Given the description of an element on the screen output the (x, y) to click on. 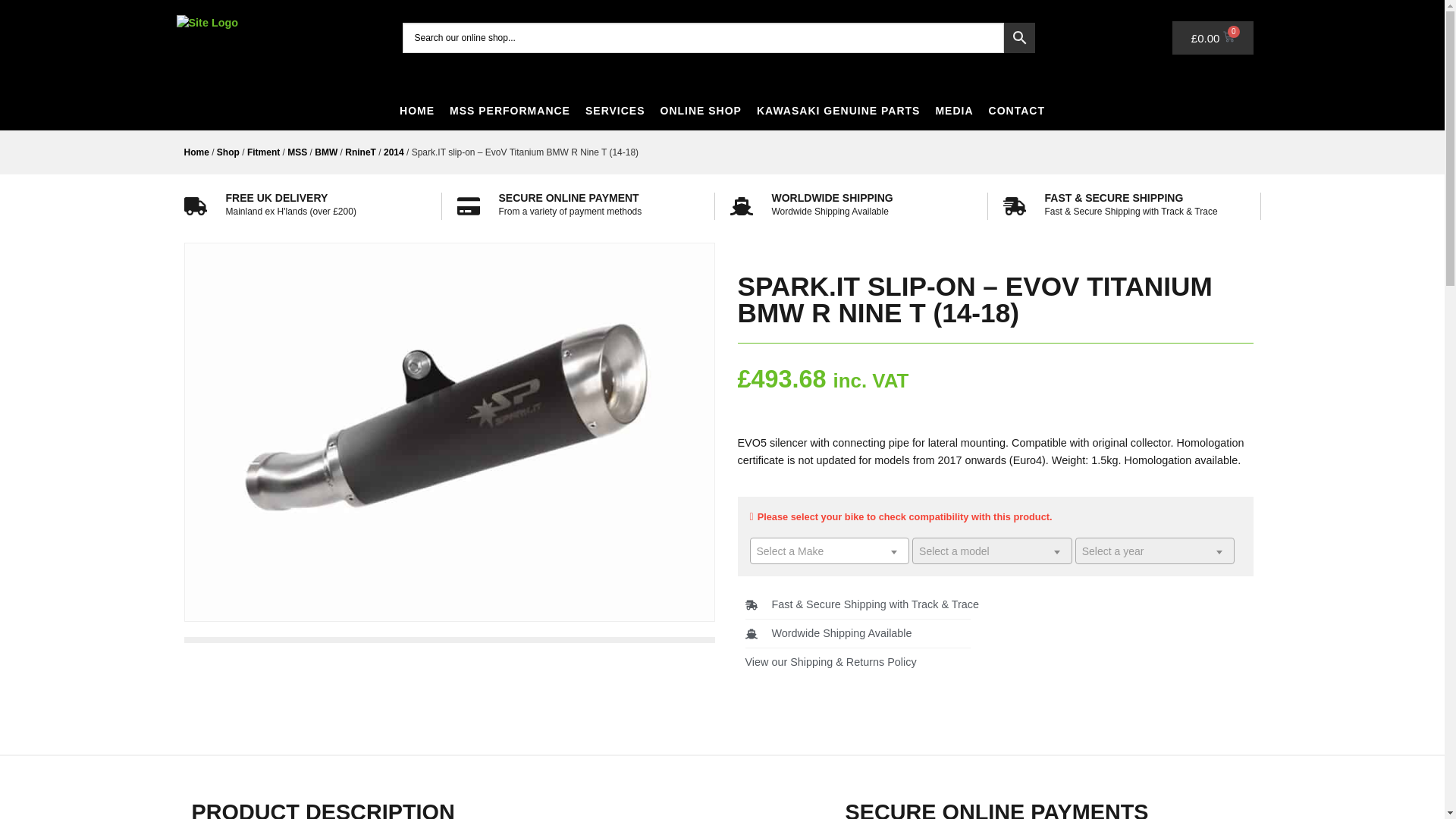
MSS (296, 152)
RnineT (360, 152)
Home (195, 152)
Shop (228, 152)
2014 (394, 152)
SERVICES (615, 110)
BMW (325, 152)
ONLINE SHOP (700, 110)
Fitment (263, 152)
